Given the description of an element on the screen output the (x, y) to click on. 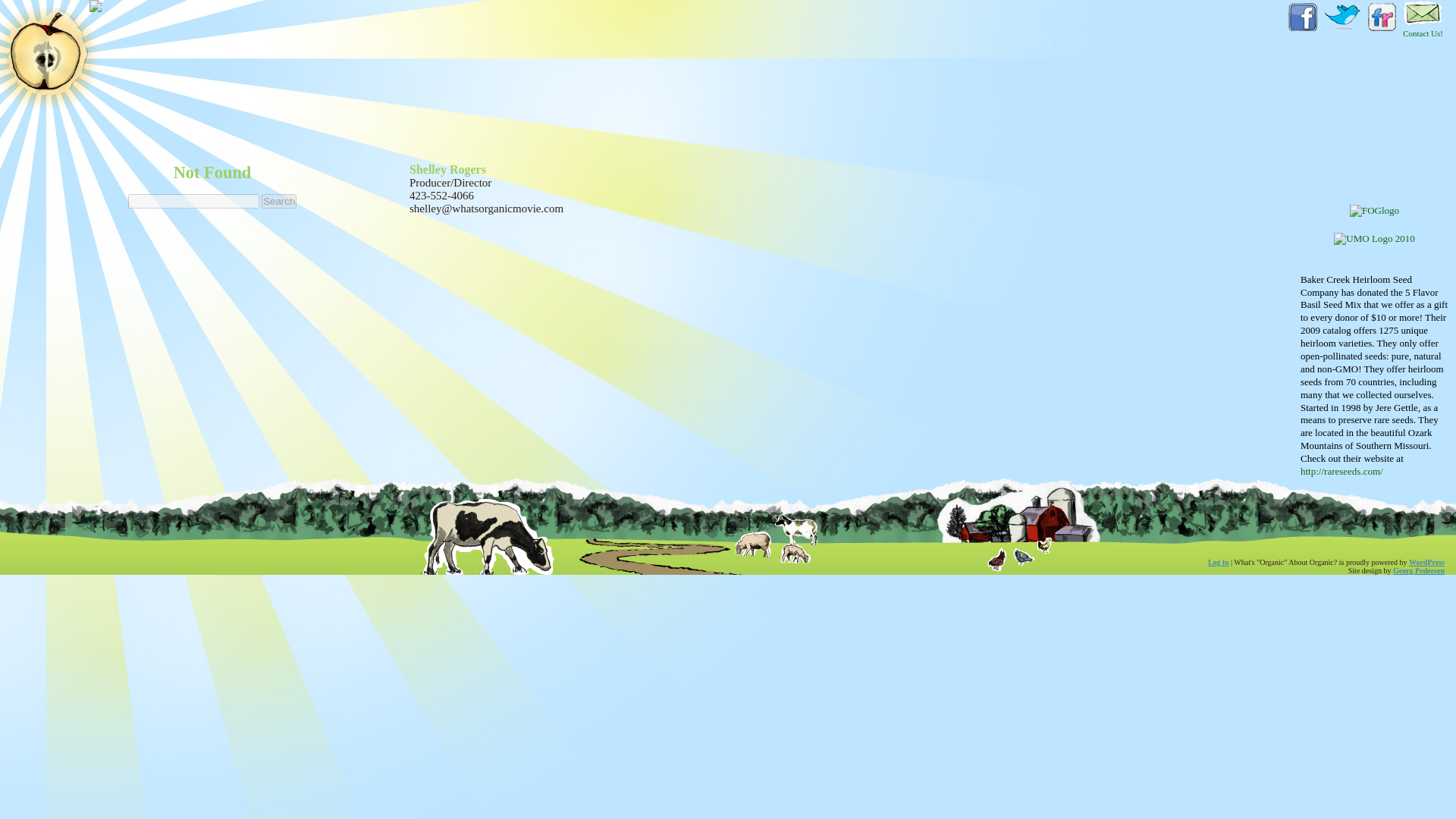
Log in (1218, 561)
WordPress (1426, 561)
FOGlogo (1374, 210)
UMO Logo 2010 (1373, 238)
Search (279, 201)
Search (279, 201)
Contact Us! (1422, 18)
